Given the description of an element on the screen output the (x, y) to click on. 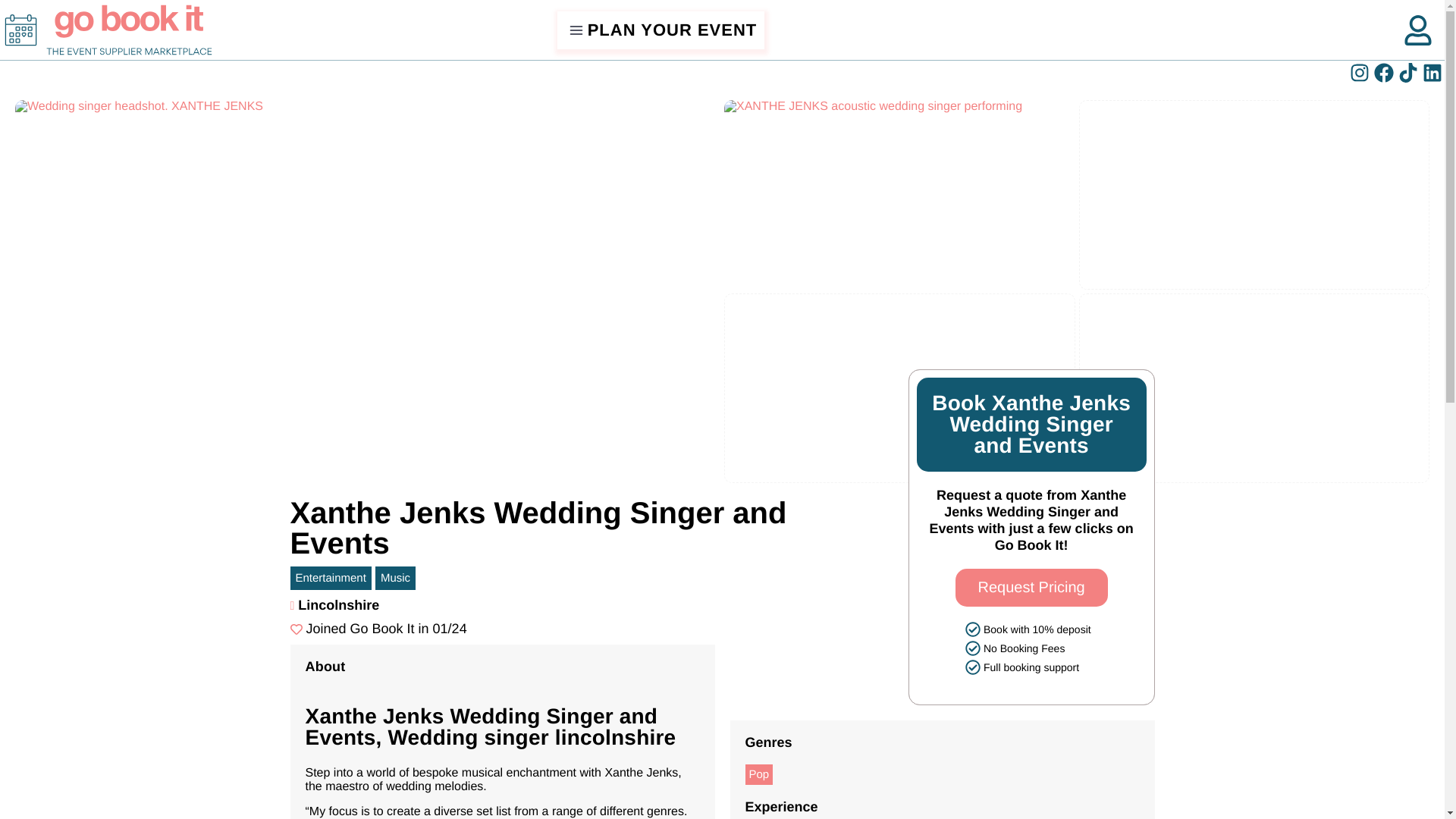
PLAN YOUR EVENT (661, 30)
